Given the description of an element on the screen output the (x, y) to click on. 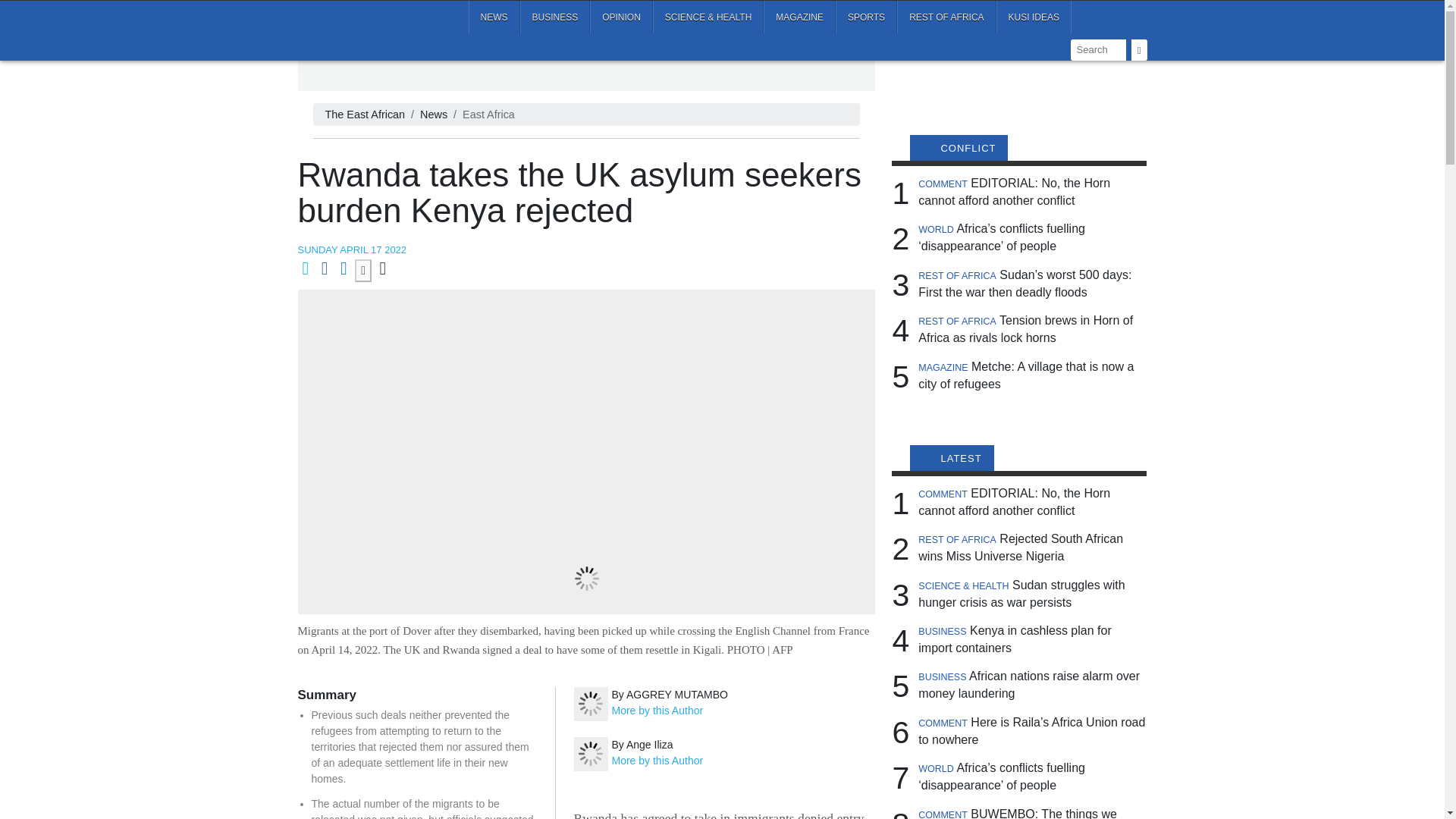
OPINION (620, 16)
NEWS (493, 16)
MAGAZINE (798, 16)
BUSINESS (555, 16)
SPORTS (865, 16)
